Given the description of an element on the screen output the (x, y) to click on. 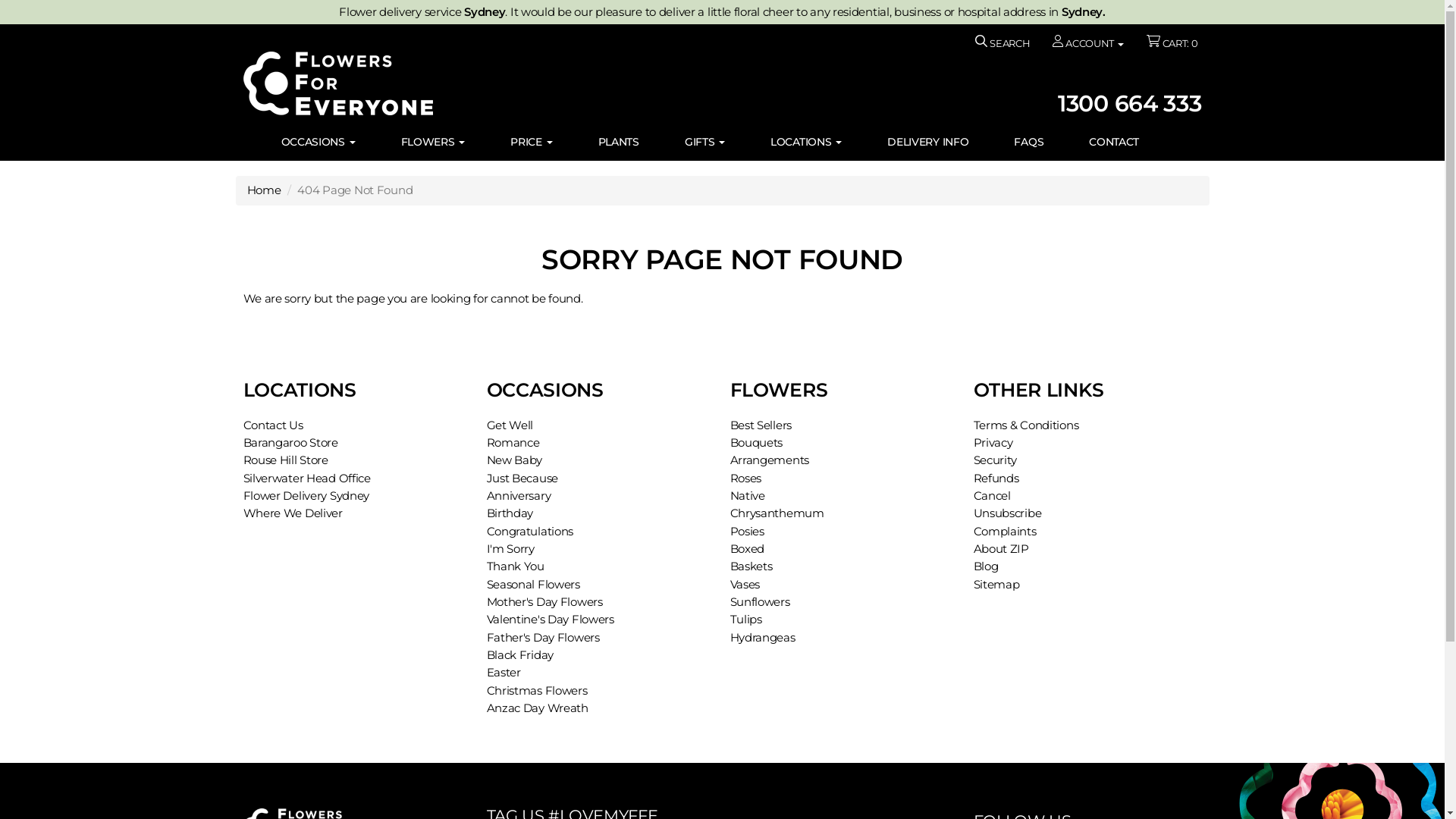
Christmas Flowers Element type: text (536, 690)
Just Because Element type: text (522, 478)
GIFTS Element type: text (704, 141)
Contact Us Element type: text (272, 425)
Anniversary Element type: text (518, 495)
Barangaroo Store Element type: text (289, 442)
Thank You Element type: text (515, 566)
Congratulations Element type: text (530, 531)
Where We Deliver Element type: text (292, 513)
Sunflowers Element type: text (759, 601)
Flowers For Everyone Element type: hover (478, 83)
PRICE Element type: text (530, 141)
Birthday Element type: text (509, 513)
Black Friday Element type: text (520, 655)
Easter Element type: text (503, 672)
Best Sellers Element type: text (760, 425)
DELIVERY INFO Element type: text (927, 141)
Native Element type: text (746, 495)
Flower Delivery Sydney Element type: text (305, 495)
OCCASIONS Element type: text (317, 141)
Seasonal Flowers Element type: text (533, 584)
I'm Sorry Element type: text (510, 548)
About ZIP Element type: text (1001, 548)
Get Well Element type: text (509, 425)
Boxed Element type: text (746, 548)
PLANTS Element type: text (618, 141)
New Baby Element type: text (514, 460)
LOCATIONS Element type: text (805, 141)
Home Element type: text (264, 190)
CONTACT Element type: text (1113, 141)
Hydrangeas Element type: text (761, 637)
ACCOUNT Element type: text (1087, 43)
Terms & Conditions Element type: text (1026, 425)
Blog Element type: text (985, 566)
Refunds Element type: text (996, 478)
Romance Element type: text (512, 442)
Security Element type: text (995, 460)
Rouse Hill Store Element type: text (284, 460)
Tulips Element type: text (745, 619)
Arrangements Element type: text (769, 460)
Sitemap Element type: text (996, 584)
FAQS Element type: text (1028, 141)
Roses Element type: text (745, 478)
Anzac Day Wreath Element type: text (537, 708)
Privacy Element type: text (993, 442)
FLOWERS Element type: text (433, 141)
1300 664 333 Element type: text (1129, 103)
CART: 0 Element type: text (1172, 43)
Chrysanthemum Element type: text (776, 513)
Cancel Element type: text (991, 495)
Baskets Element type: text (750, 566)
Father's Day Flowers Element type: text (542, 637)
Mother's Day Flowers Element type: text (544, 601)
Valentine's Day Flowers Element type: text (550, 619)
SEARCH Element type: text (1002, 43)
Posies Element type: text (746, 531)
Vases Element type: text (744, 584)
Bouquets Element type: text (755, 442)
Unsubscribe Element type: text (1007, 513)
Complaints Element type: text (1004, 531)
Silverwater Head Office Element type: text (306, 478)
